Given the description of an element on the screen output the (x, y) to click on. 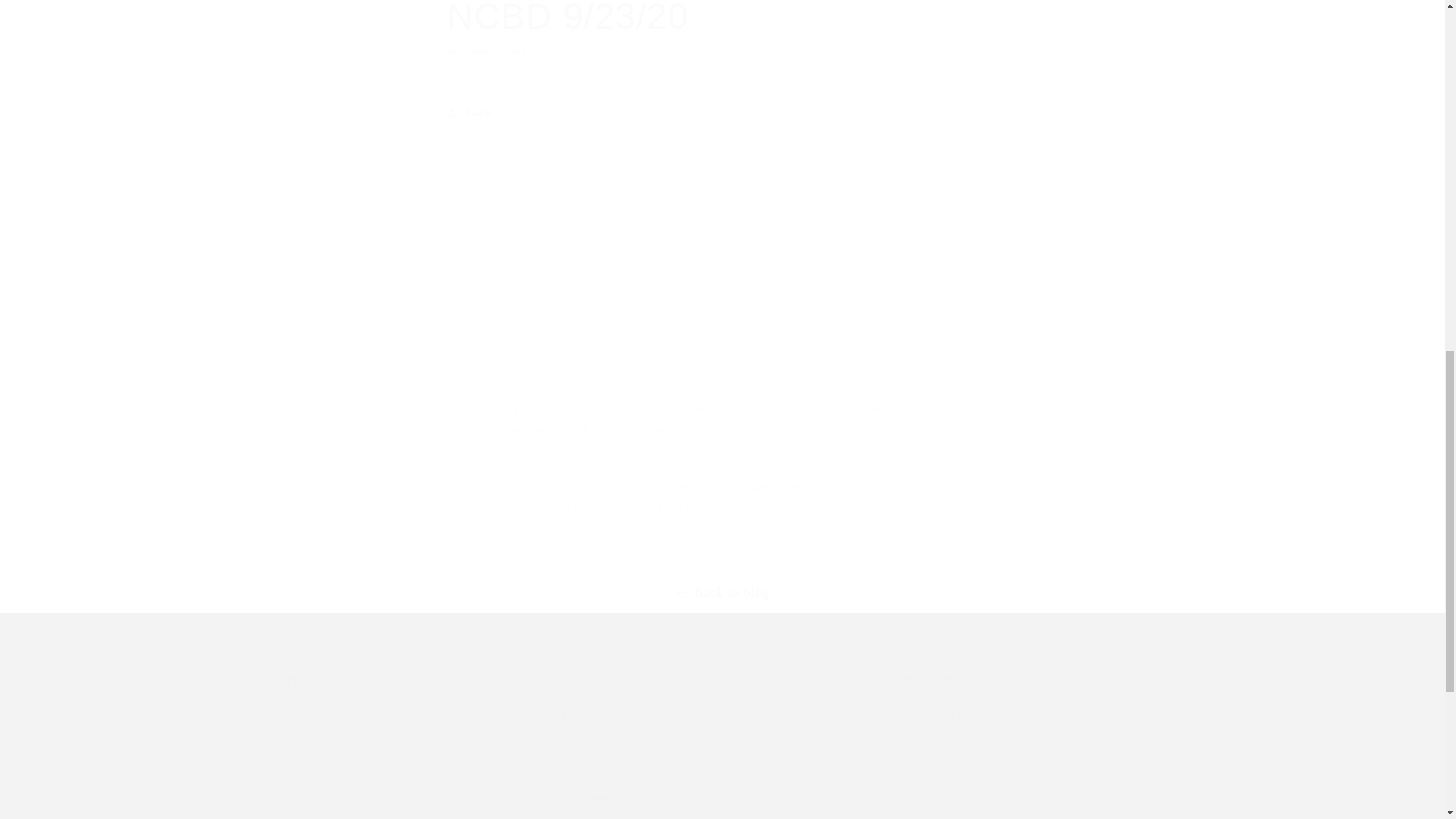
Share (721, 744)
